Given the description of an element on the screen output the (x, y) to click on. 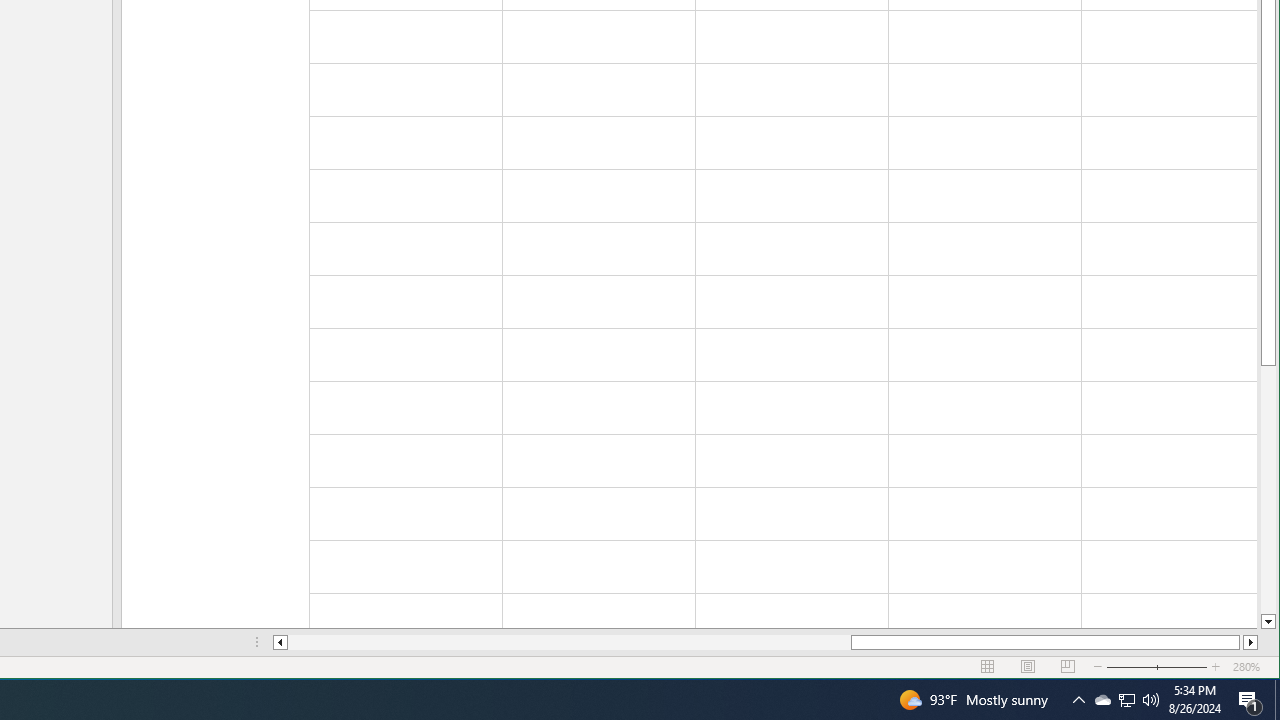
Notification Chevron (1078, 699)
Q2790: 100% (1126, 699)
Action Center, 1 new notification (1151, 699)
